Given the description of an element on the screen output the (x, y) to click on. 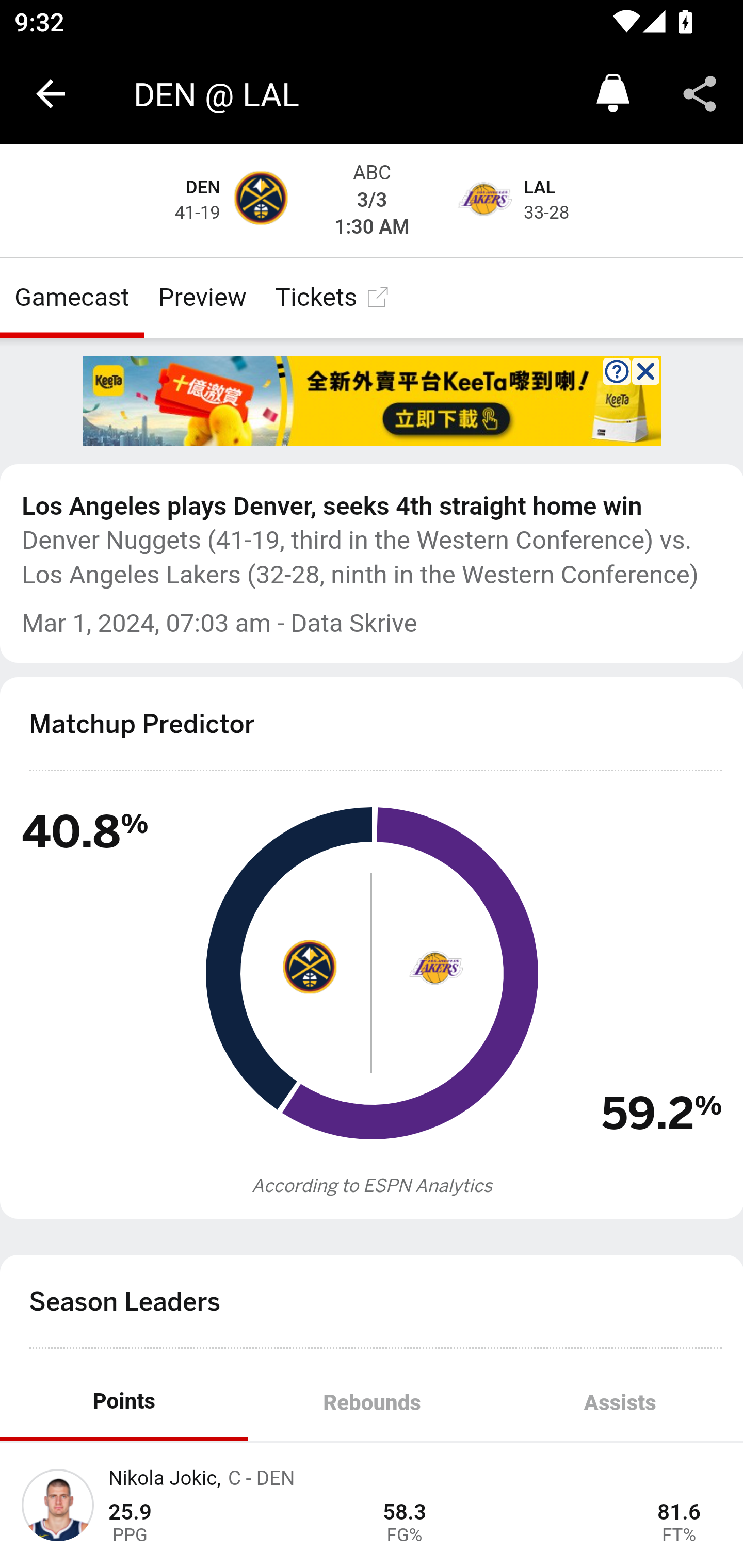
Navigate up (50, 93)
Alerts ì (612, 93)
Share (699, 93)
Denver Nuggets (260, 200)
Los Angeles Lakers (483, 200)
DEN (203, 187)
LAL (539, 187)
Gamecast (72, 296)
Preview (201, 296)
Tickets External Link Tickets External Link (333, 296)
Denver Nuggets (308, 965)
Los Angeles Lakers (434, 965)
According to ESPN Analytics (372, 1184)
Points (124, 1403)
Rebounds (371, 1403)
Assists (618, 1403)
